Given the description of an element on the screen output the (x, y) to click on. 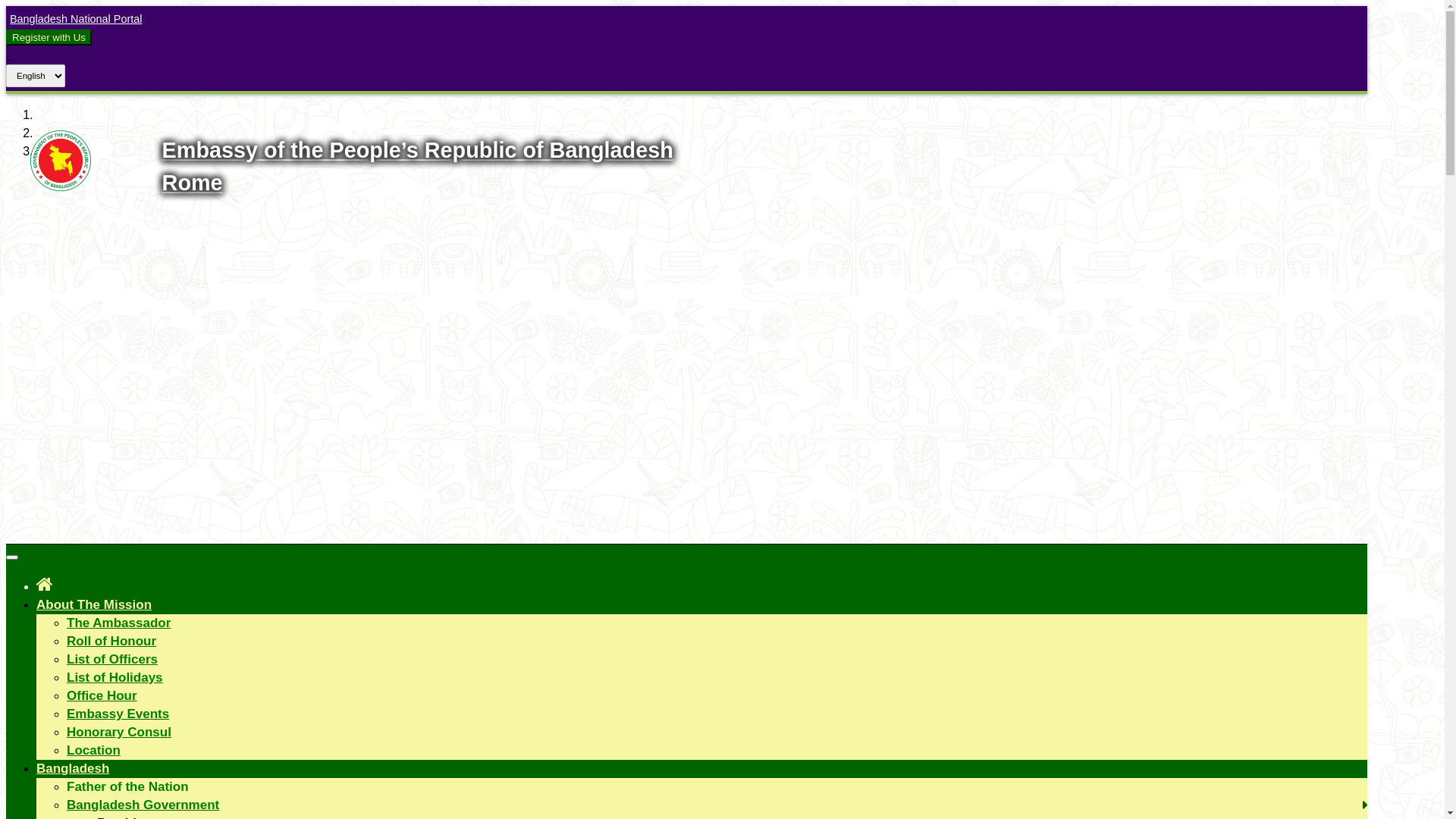
Bangladesh Element type: text (72, 768)
Logo Element type: hover (60, 186)
About The Mission Element type: text (93, 604)
Bangladesh National Portal Element type: text (73, 18)
The Ambassador Element type: text (118, 622)
Honorary Consul Element type: text (118, 731)
Register with Us Element type: text (48, 37)
Embassy Events Element type: text (117, 713)
Register with Us Element type: text (48, 37)
Office Hour Element type: text (101, 695)
Father of the Nation Element type: text (127, 786)
Location Element type: text (93, 750)
Roll of Honour Element type: text (111, 640)
Bangladesh Government Element type: text (142, 804)
Home Element type: hover (44, 584)
List of Officers Element type: text (111, 659)
List of Holidays Element type: text (114, 677)
